Given the description of an element on the screen output the (x, y) to click on. 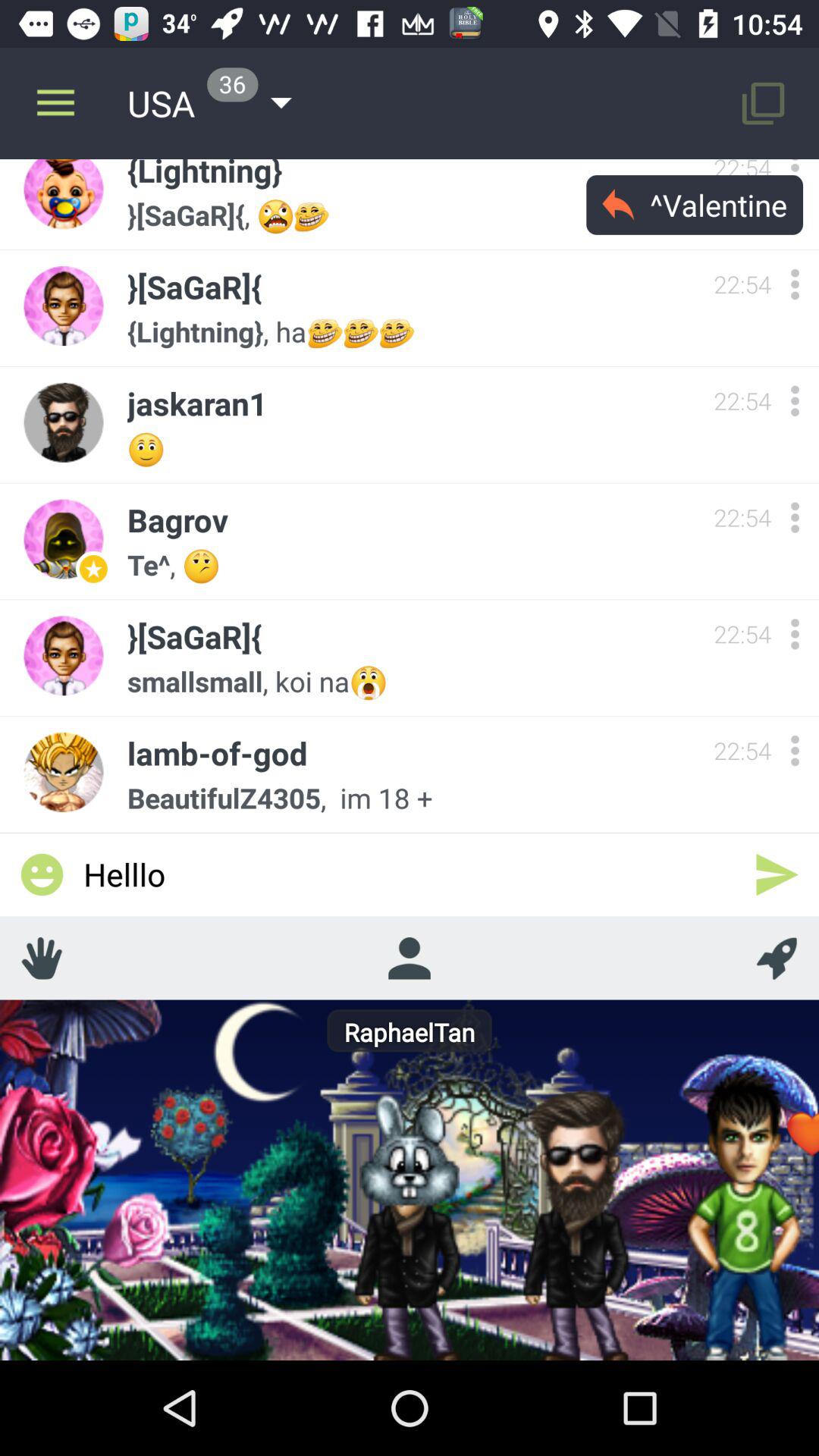
choose the item below beautifulz4305,  im 18 + icon (409, 873)
